Given the description of an element on the screen output the (x, y) to click on. 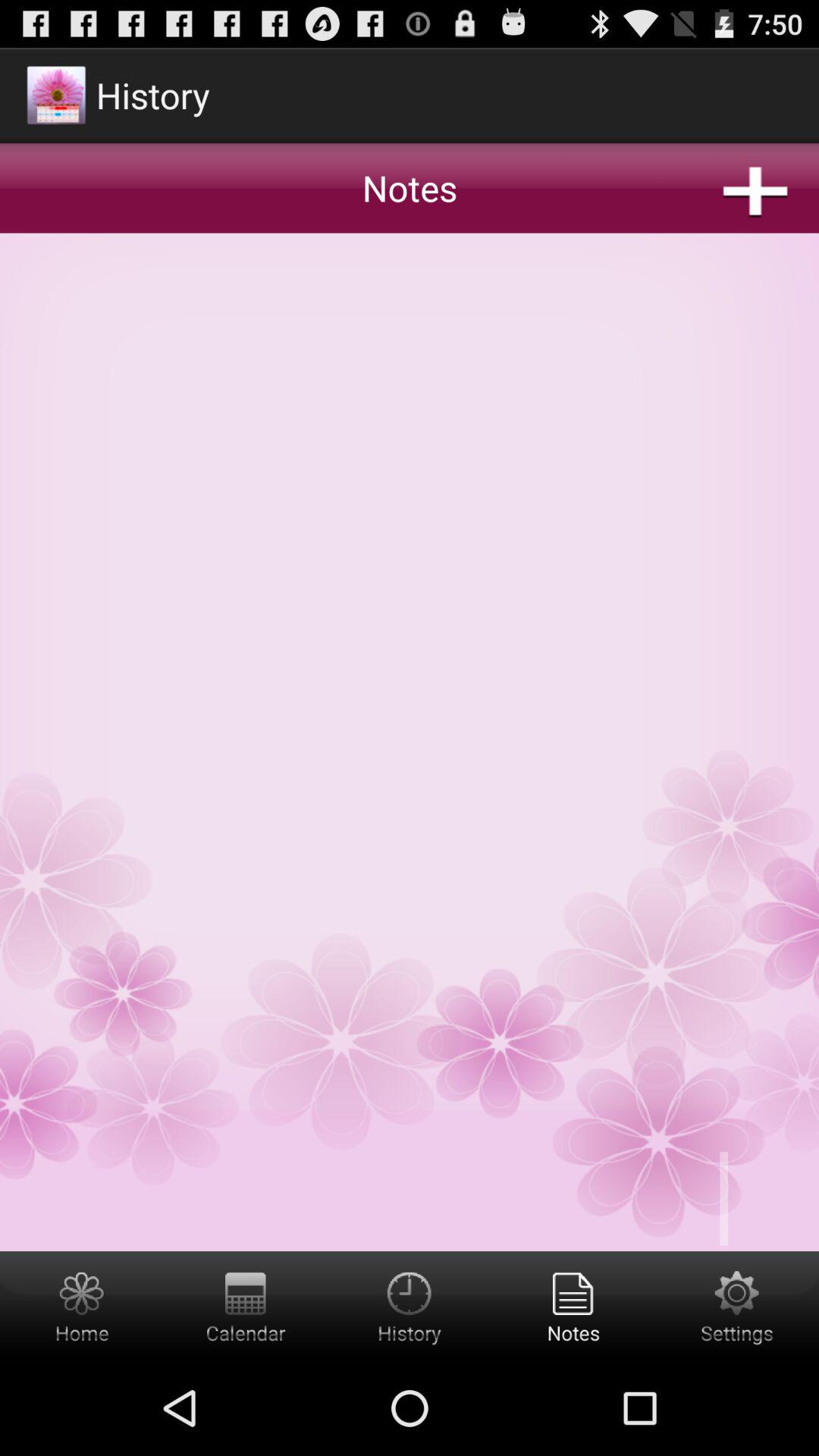
open calendar (245, 1305)
